Given the description of an element on the screen output the (x, y) to click on. 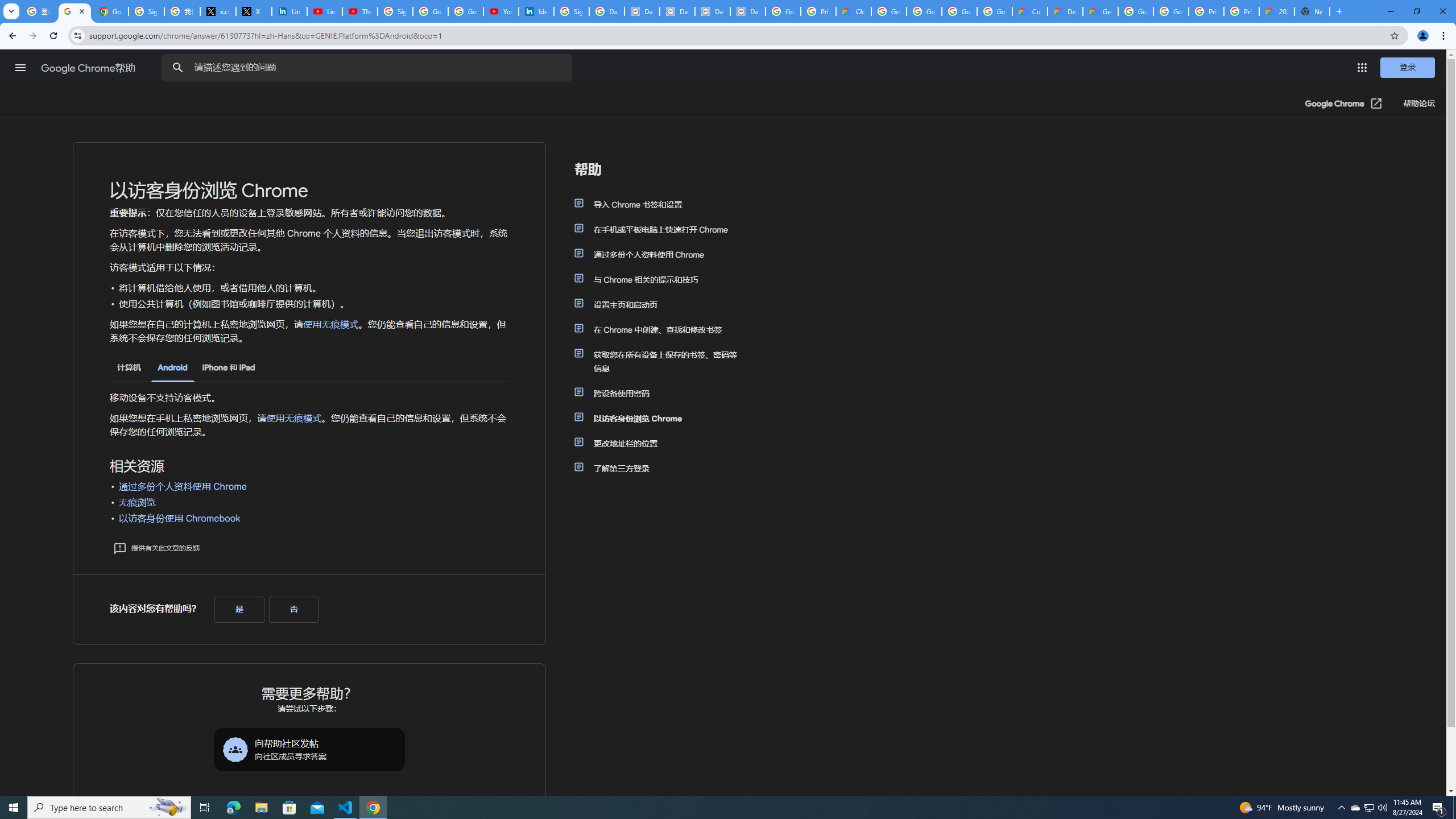
Data Privacy Framework (712, 11)
X (253, 11)
New Tab (1312, 11)
